Given the description of an element on the screen output the (x, y) to click on. 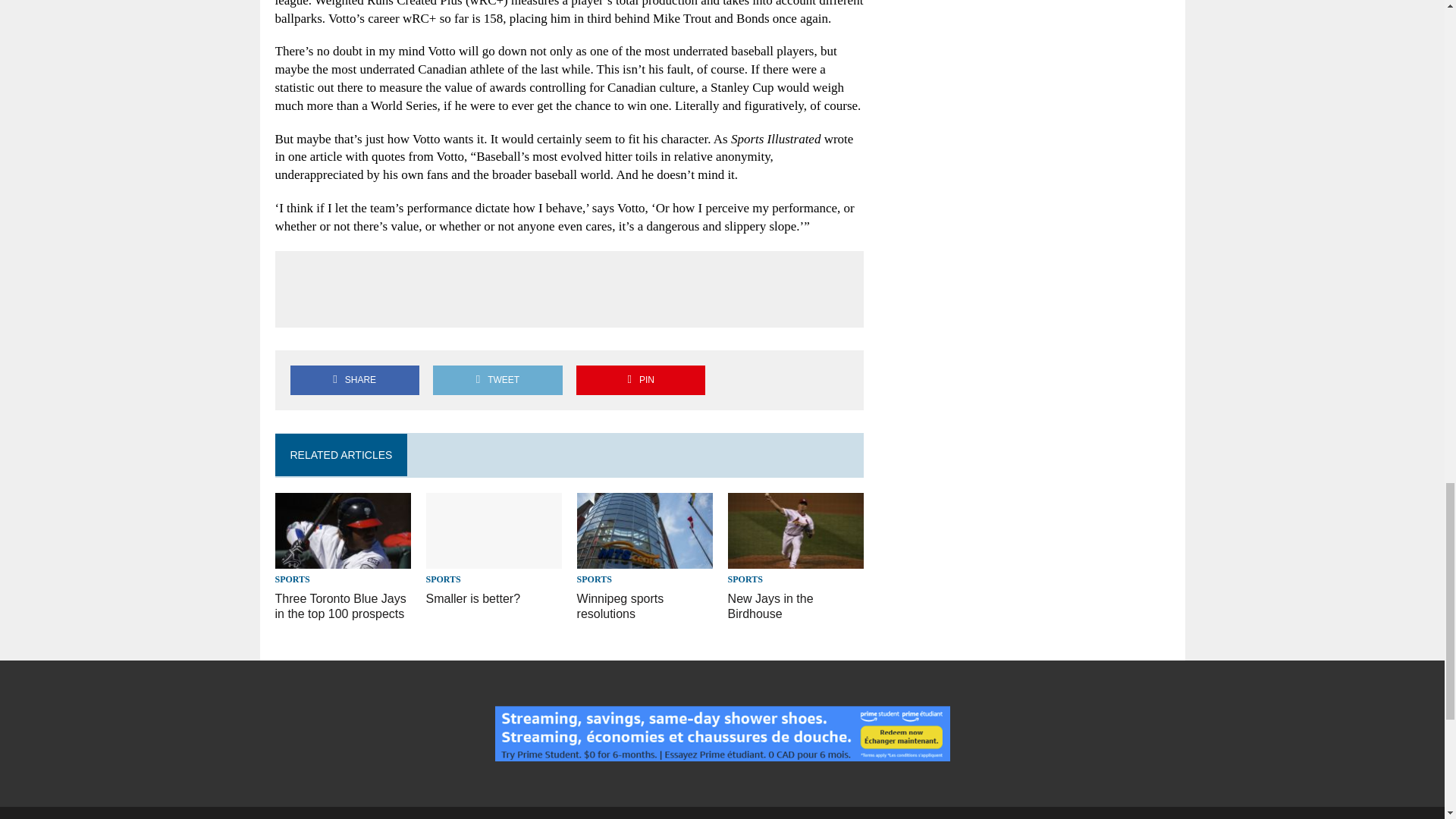
Three Toronto Blue Jays in the top 100 prospects (342, 558)
Winnipeg sports resolutions (644, 558)
New Jays in the Birdhouse (770, 606)
Smaller is better? (473, 598)
New Jays in the Birdhouse (796, 558)
Tweet This Post (497, 379)
Three Toronto Blue Jays in the top 100 prospects (340, 606)
Winnipeg sports resolutions (619, 606)
Pin This Post (640, 379)
Share on Facebook (354, 379)
